Given the description of an element on the screen output the (x, y) to click on. 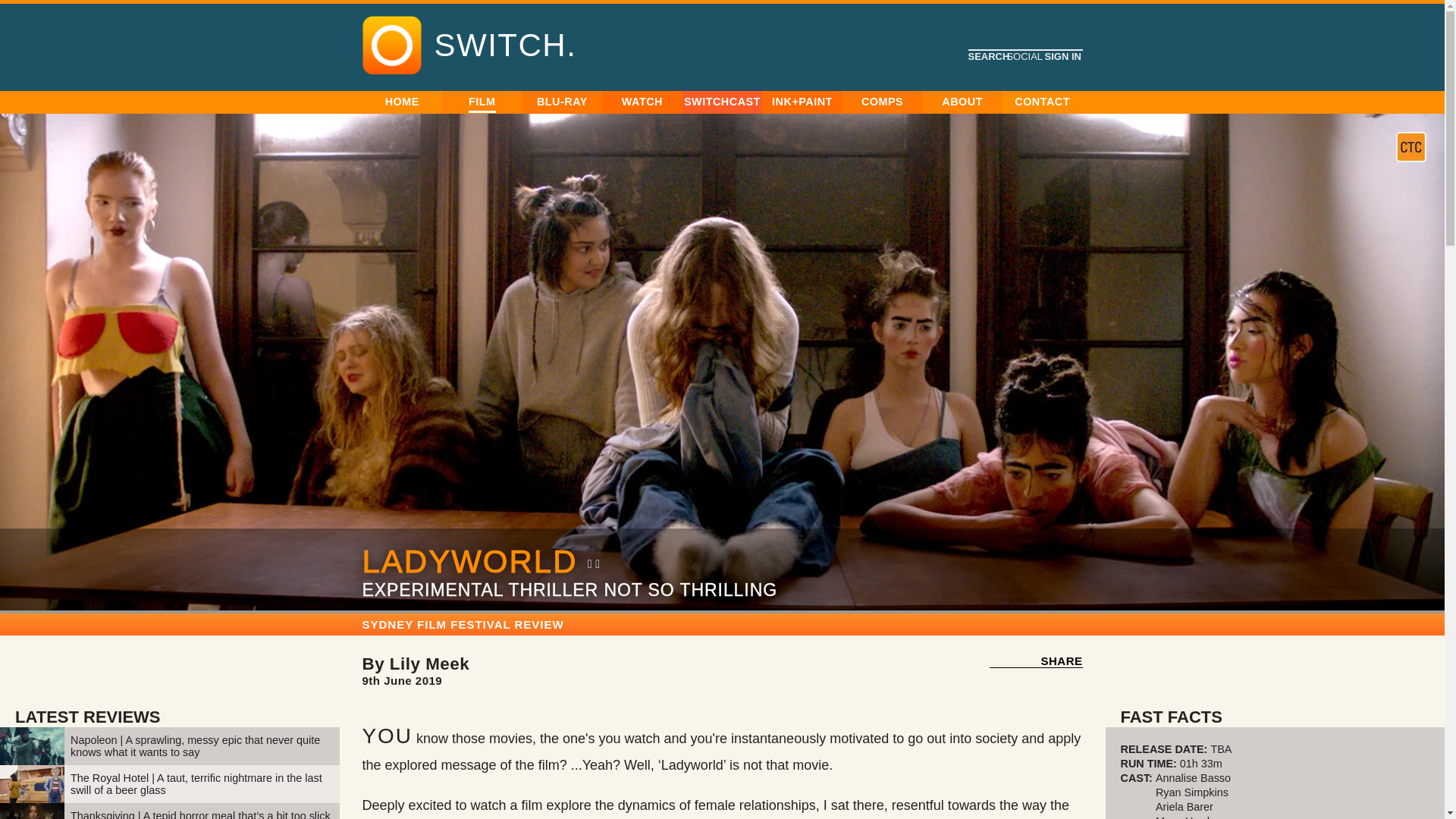
SIGN IN Element type: text (1062, 56)
SWITCH. Element type: text (504, 45)
Ariela Barer Element type: text (1184, 806)
FILM Element type: text (481, 102)
Ryan Simpkins Element type: text (1191, 792)
ABOUT Element type: text (961, 101)
INK+PAINT Element type: text (801, 101)
BLU-RAY Element type: text (561, 101)
Annalise Basso Element type: text (1192, 777)
JOIN NOW Element type: text (479, 167)
WATCH Element type: text (641, 101)
COMPS Element type: text (882, 101)
HOME Element type: text (402, 101)
CONTACT Element type: text (1042, 101)
SEARCH Element type: text (986, 56)
SWITCHCAST Element type: text (722, 101)
SIGN IN Element type: text (771, 199)
By Lily Meek Element type: text (416, 663)
FORGOT PASSWORD? Element type: text (880, 199)
